Given the description of an element on the screen output the (x, y) to click on. 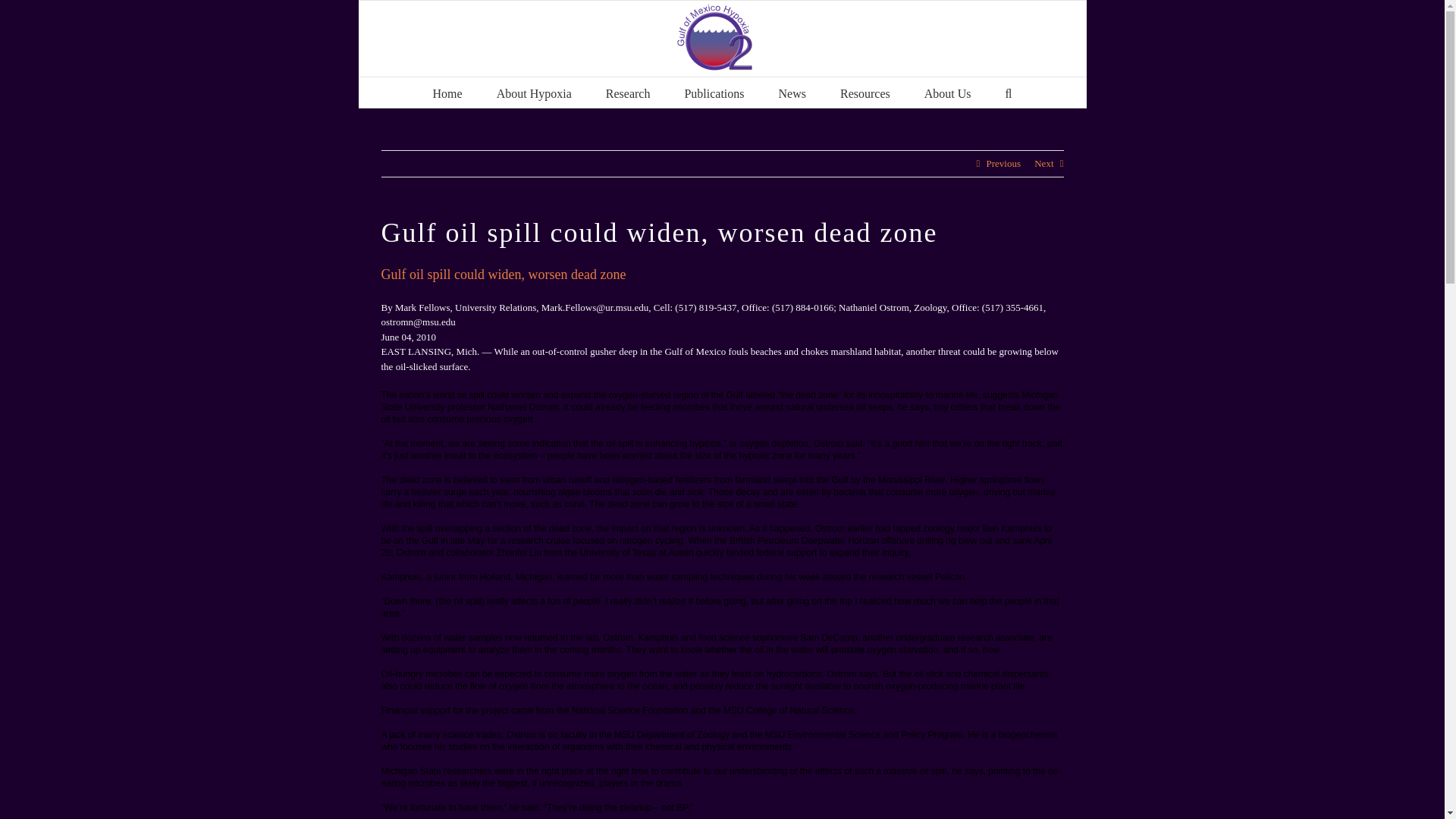
Home (447, 91)
News (792, 91)
About Hypoxia (534, 91)
Publications (714, 91)
Resources (864, 91)
Search (1008, 91)
Research (627, 91)
About Us (947, 91)
